Given the description of an element on the screen output the (x, y) to click on. 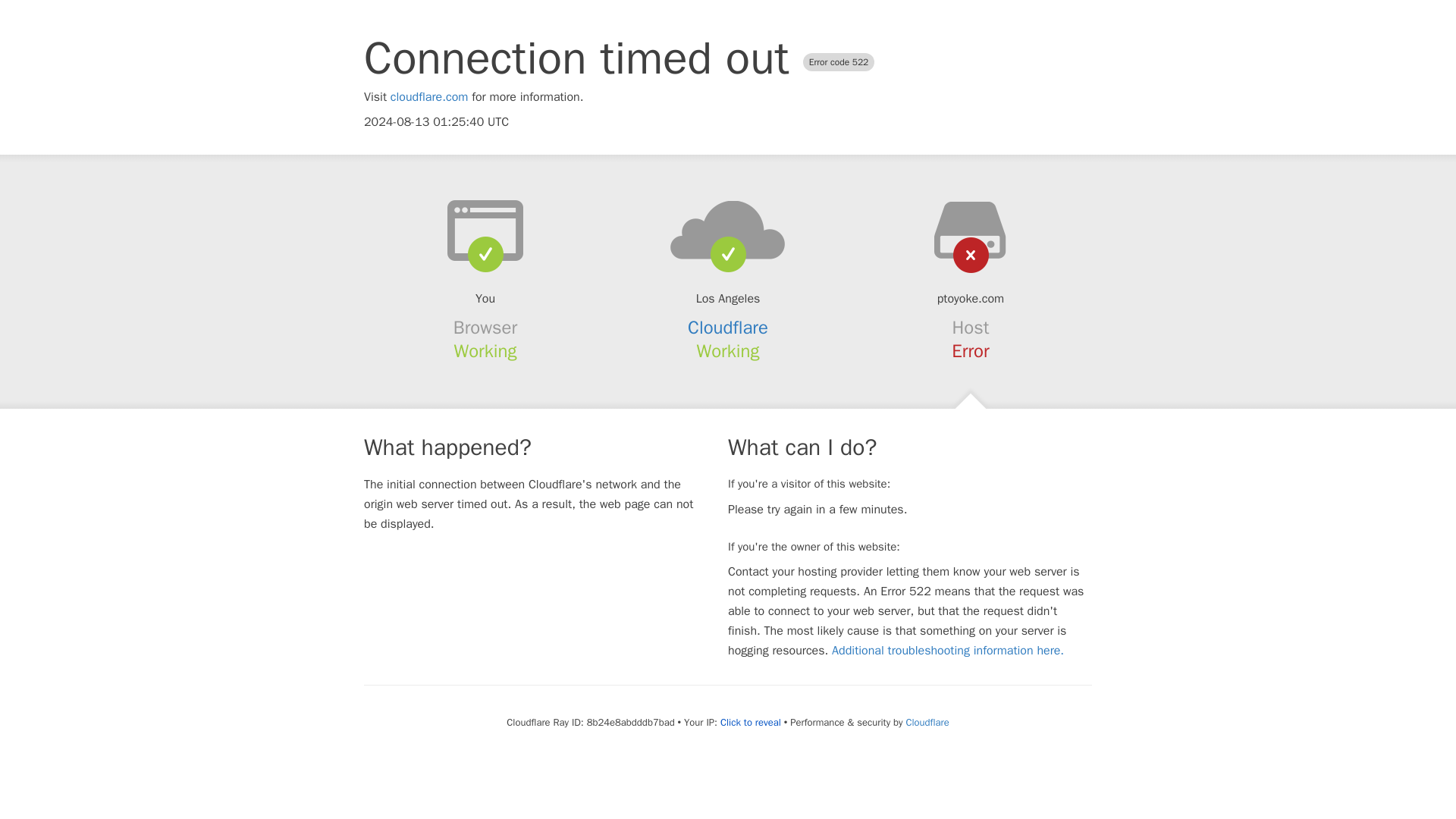
Cloudflare (727, 327)
Cloudflare (927, 721)
cloudflare.com (429, 96)
Additional troubleshooting information here. (947, 650)
Click to reveal (750, 722)
